Given the description of an element on the screen output the (x, y) to click on. 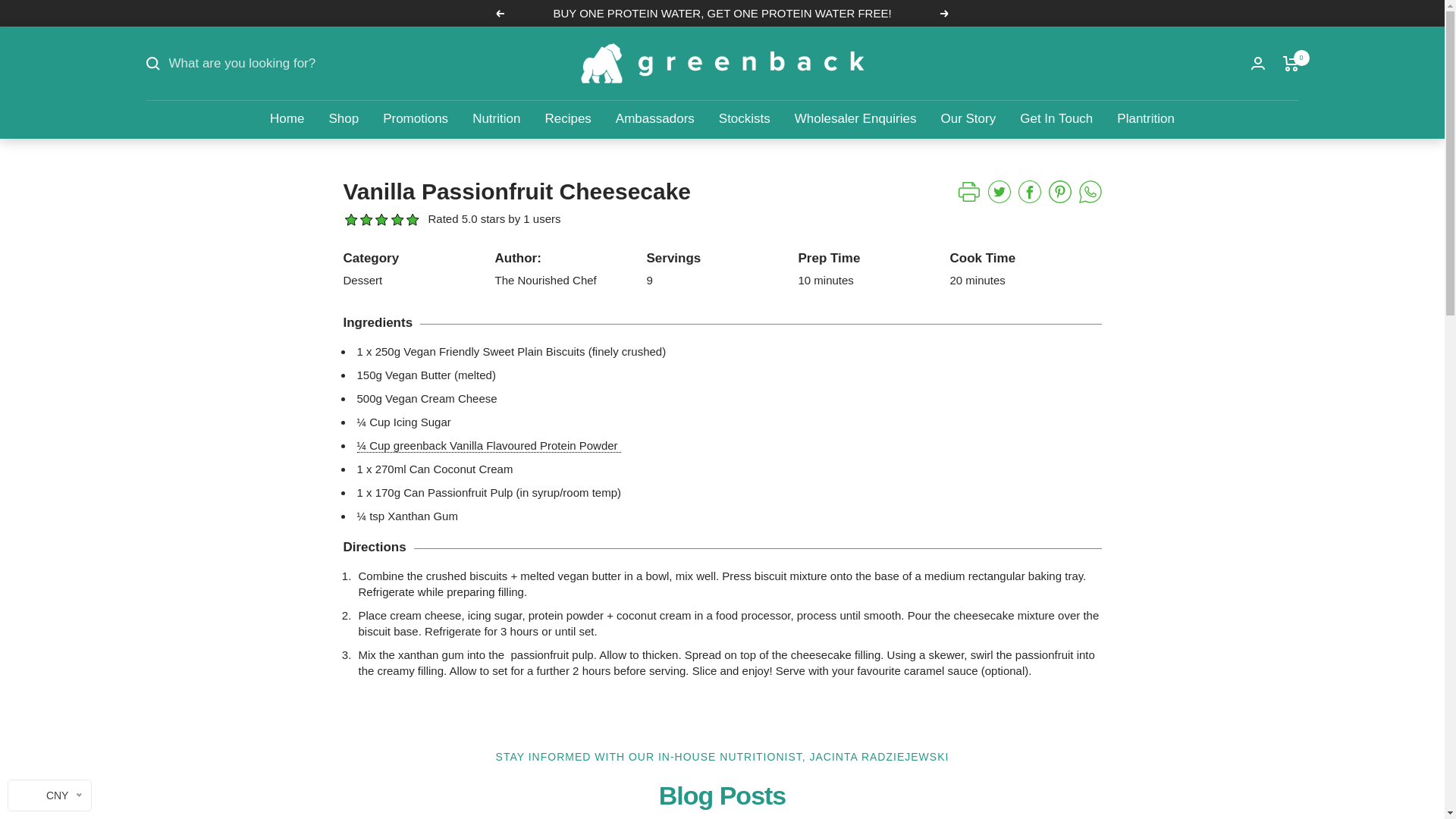
Next (944, 13)
Stockists (744, 118)
Home (286, 118)
Shop (343, 118)
Promotions (415, 118)
Ambassadors (654, 118)
Previous (499, 13)
Get In Touch (1056, 118)
Recipes (567, 118)
Wholesaler Enquiries (855, 118)
